Given the description of an element on the screen output the (x, y) to click on. 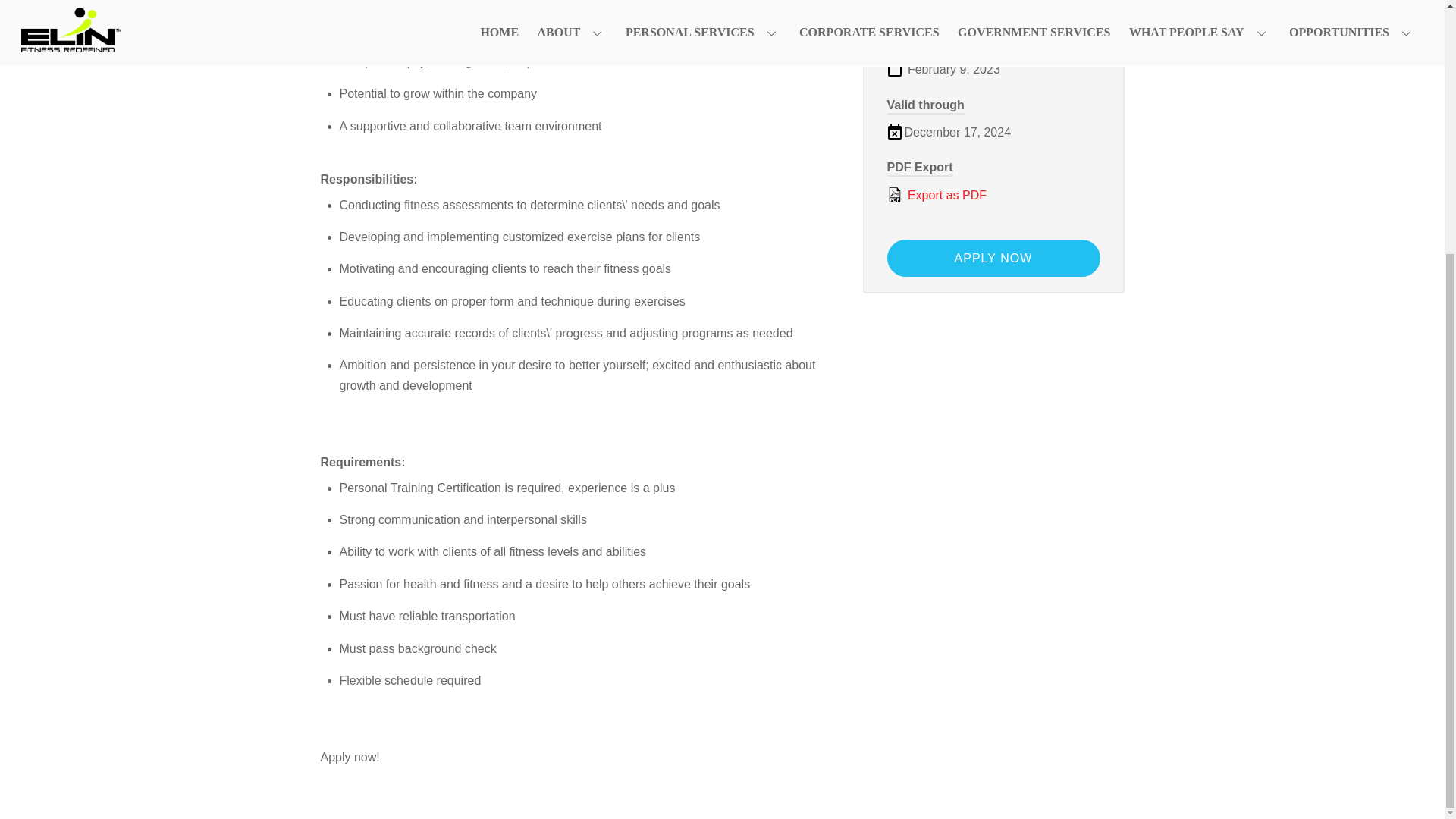
APPLY NOW (993, 257)
Export as PDF (993, 195)
